Given the description of an element on the screen output the (x, y) to click on. 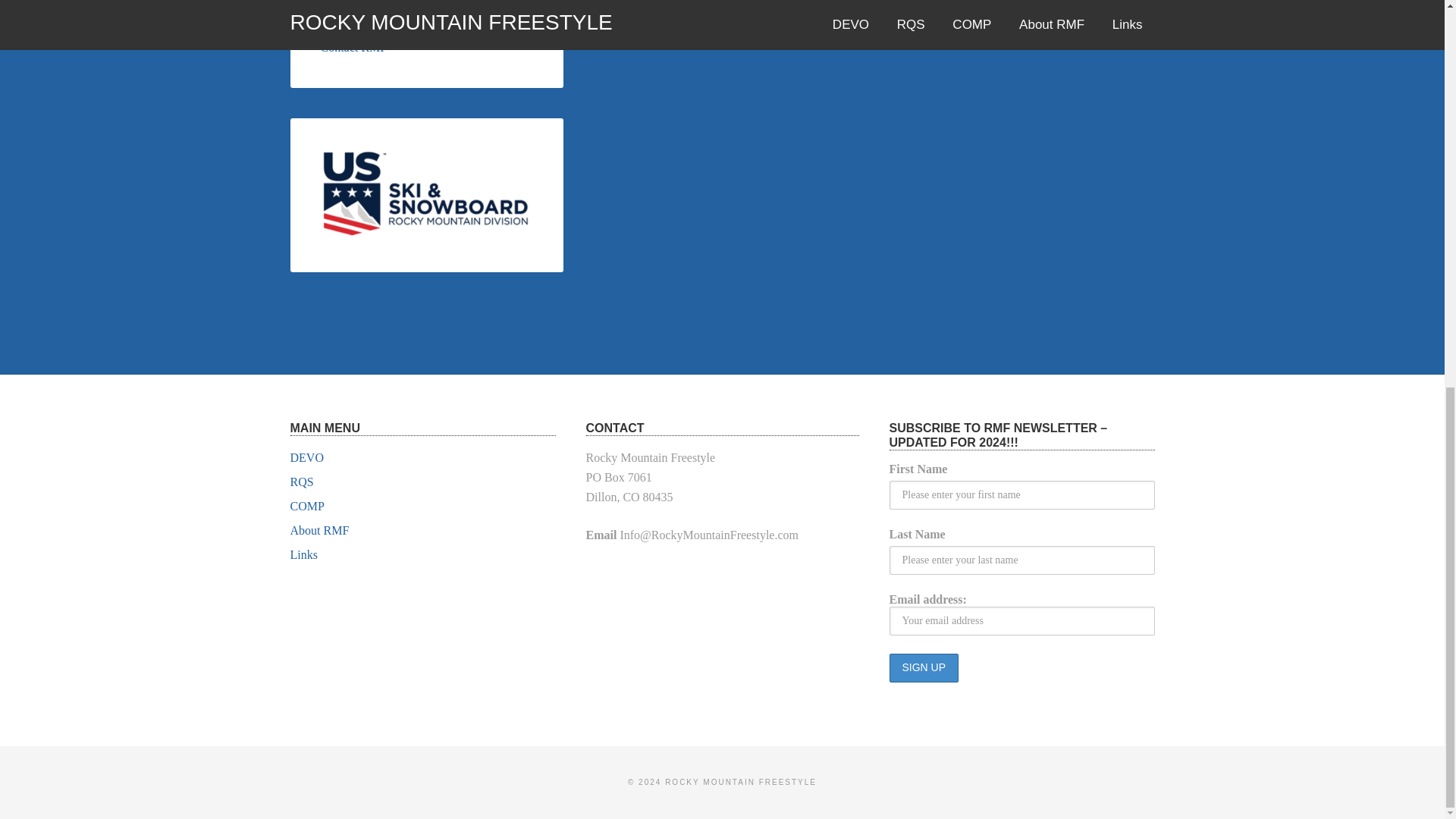
About RMF (319, 530)
Sign up (923, 667)
COMP (306, 505)
RQS (301, 481)
RMF Trailer Panel Sponsorship (397, 22)
Links (303, 554)
Sign up (923, 667)
Contact RMF (353, 47)
DEVO (306, 457)
Archived Competition Results (393, 2)
